Given the description of an element on the screen output the (x, y) to click on. 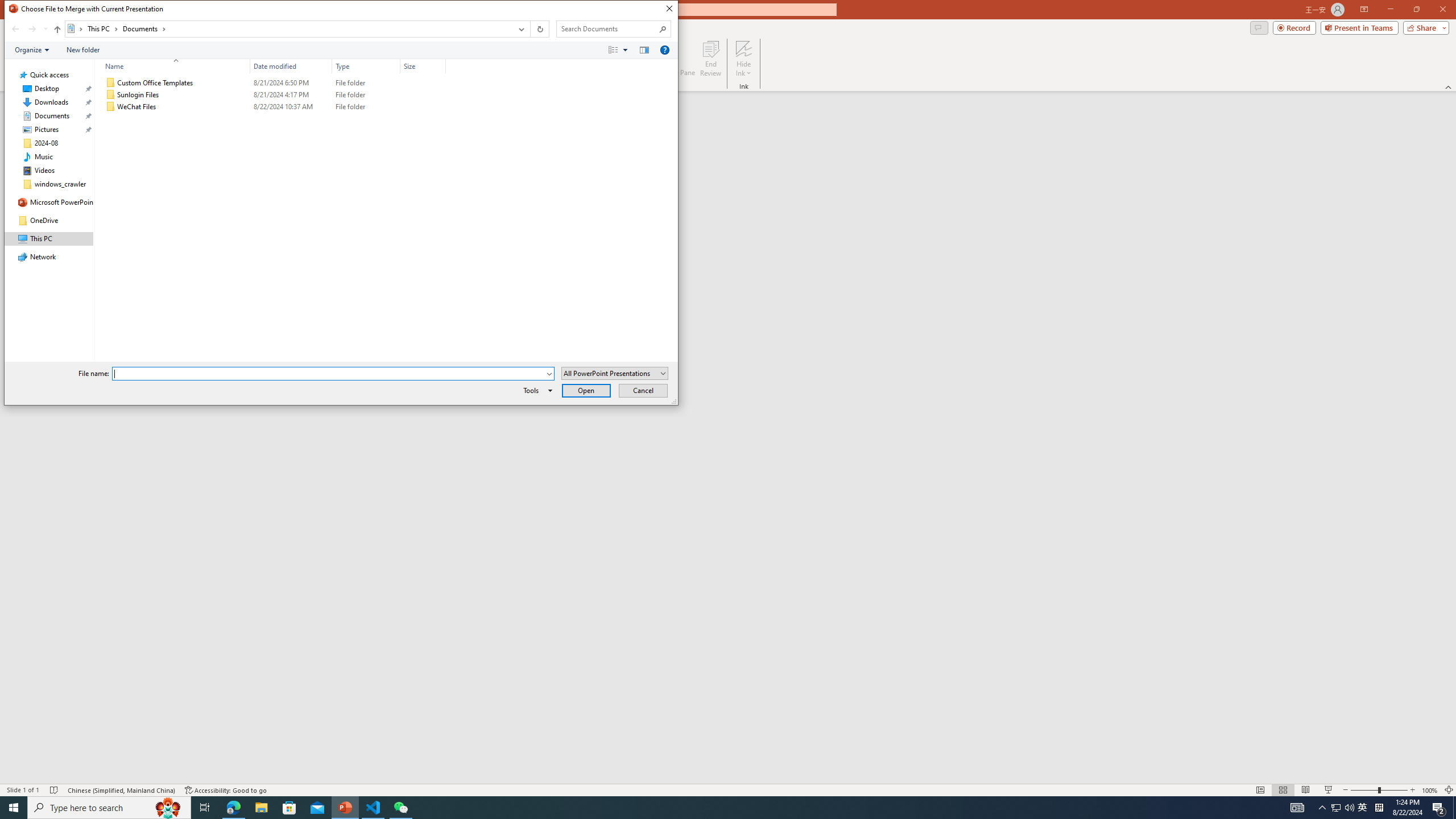
Name (183, 106)
View Slider (625, 49)
Recent locations (44, 28)
Search Box (607, 28)
Back (Alt + Left Arrow) (15, 28)
Preview pane (644, 49)
&Help (664, 49)
Views (620, 49)
Documents (144, 28)
